Given the description of an element on the screen output the (x, y) to click on. 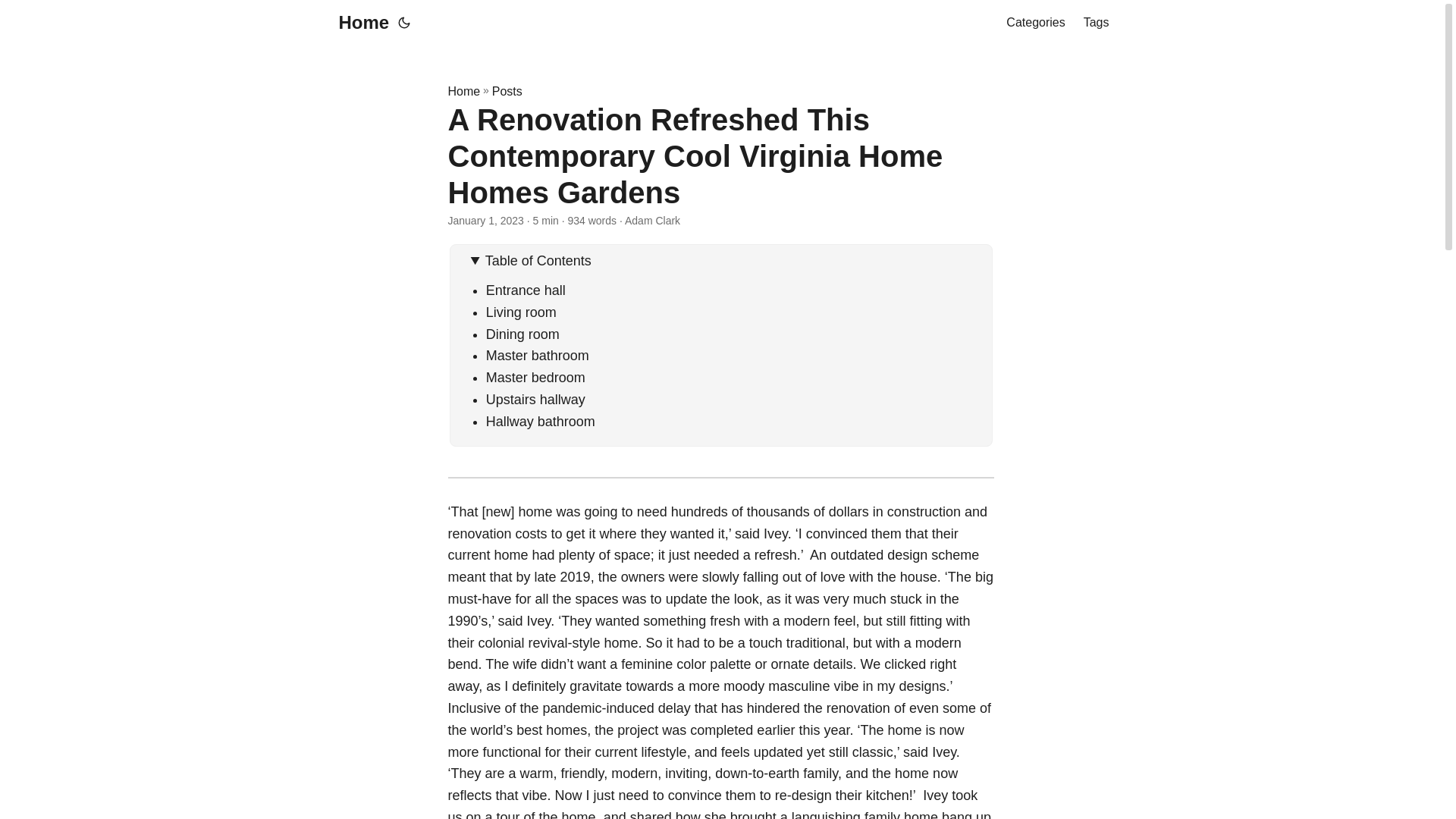
Posts (507, 91)
Dining room (522, 334)
Upstairs hallway (535, 399)
Hallway bathroom (540, 421)
Master bedroom (535, 377)
Home (463, 91)
Living room  (523, 312)
Home (359, 22)
Categories (1035, 22)
Entrance hall (526, 290)
Categories (1035, 22)
Master bathroom  (539, 355)
